Given the description of an element on the screen output the (x, y) to click on. 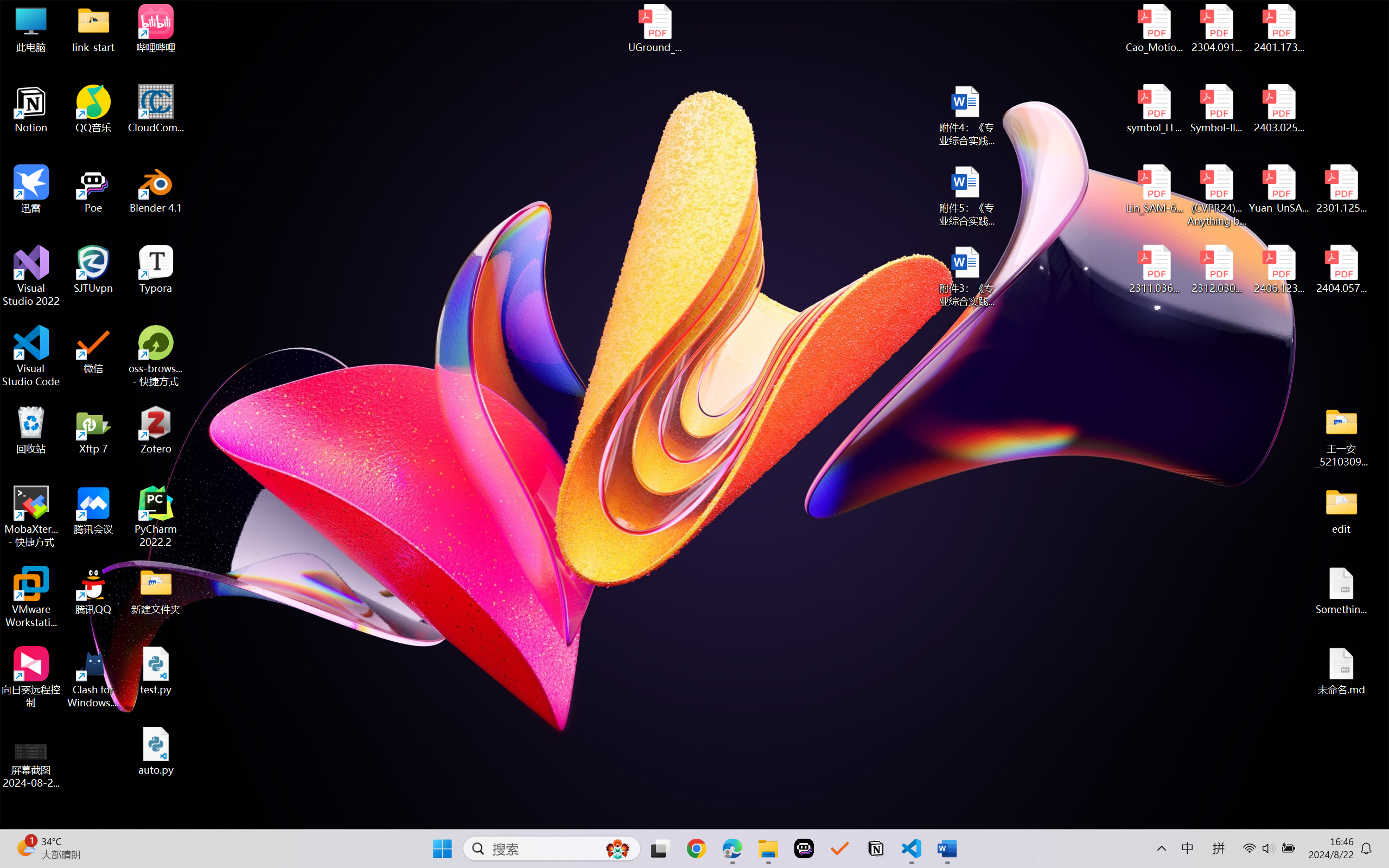
Visual Studio 2022 (31, 276)
Xftp 7 (93, 430)
2404.05719v1.pdf (1340, 269)
Google Chrome (696, 848)
2301.12597v3.pdf (1340, 189)
Symbol-llm-v2.pdf (1216, 109)
auto.py (156, 751)
